Given the description of an element on the screen output the (x, y) to click on. 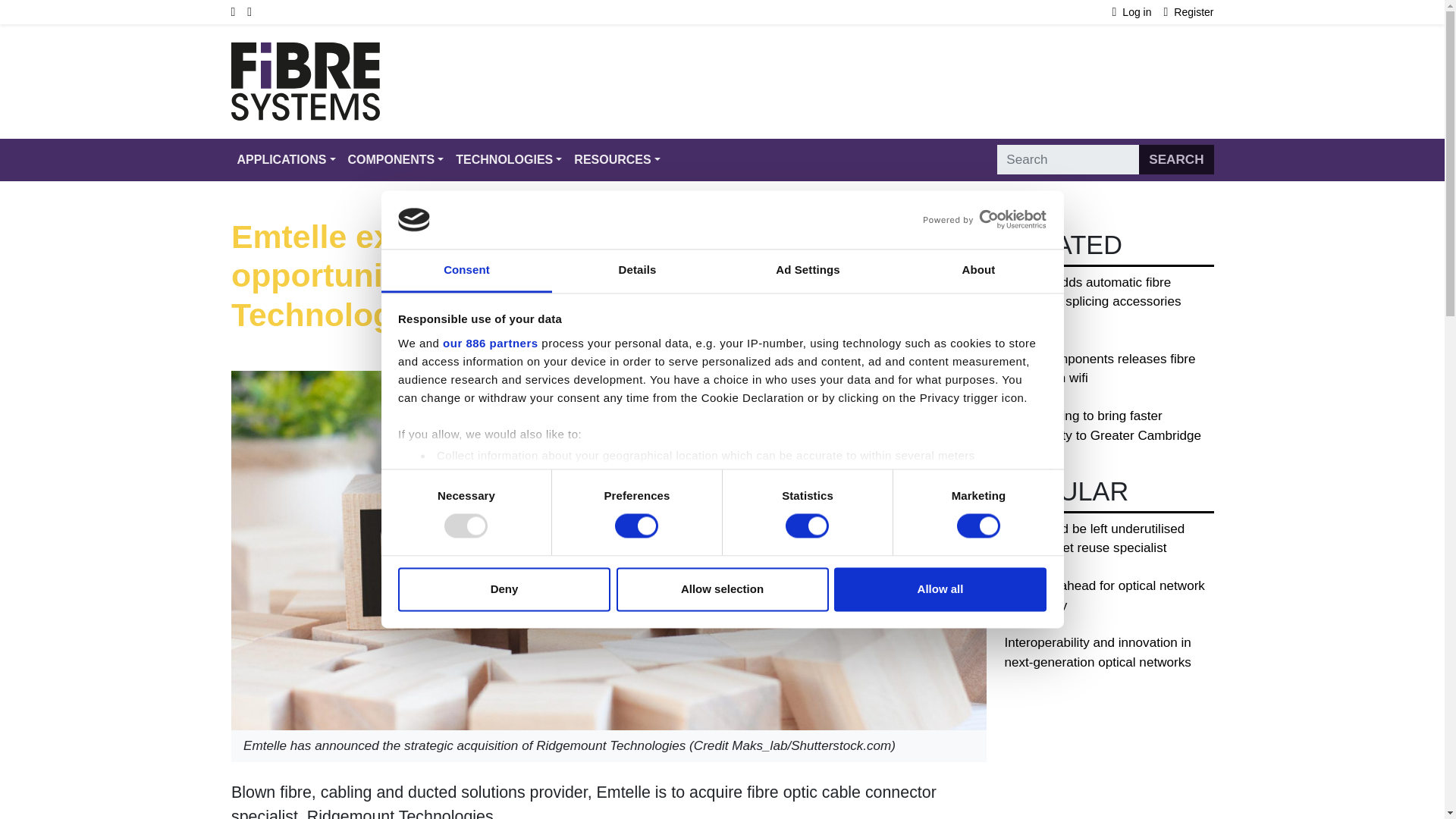
details section (927, 494)
Details (636, 270)
our 886 partners (490, 342)
Consent (465, 270)
Ad Settings (807, 270)
About (978, 270)
